Given the description of an element on the screen output the (x, y) to click on. 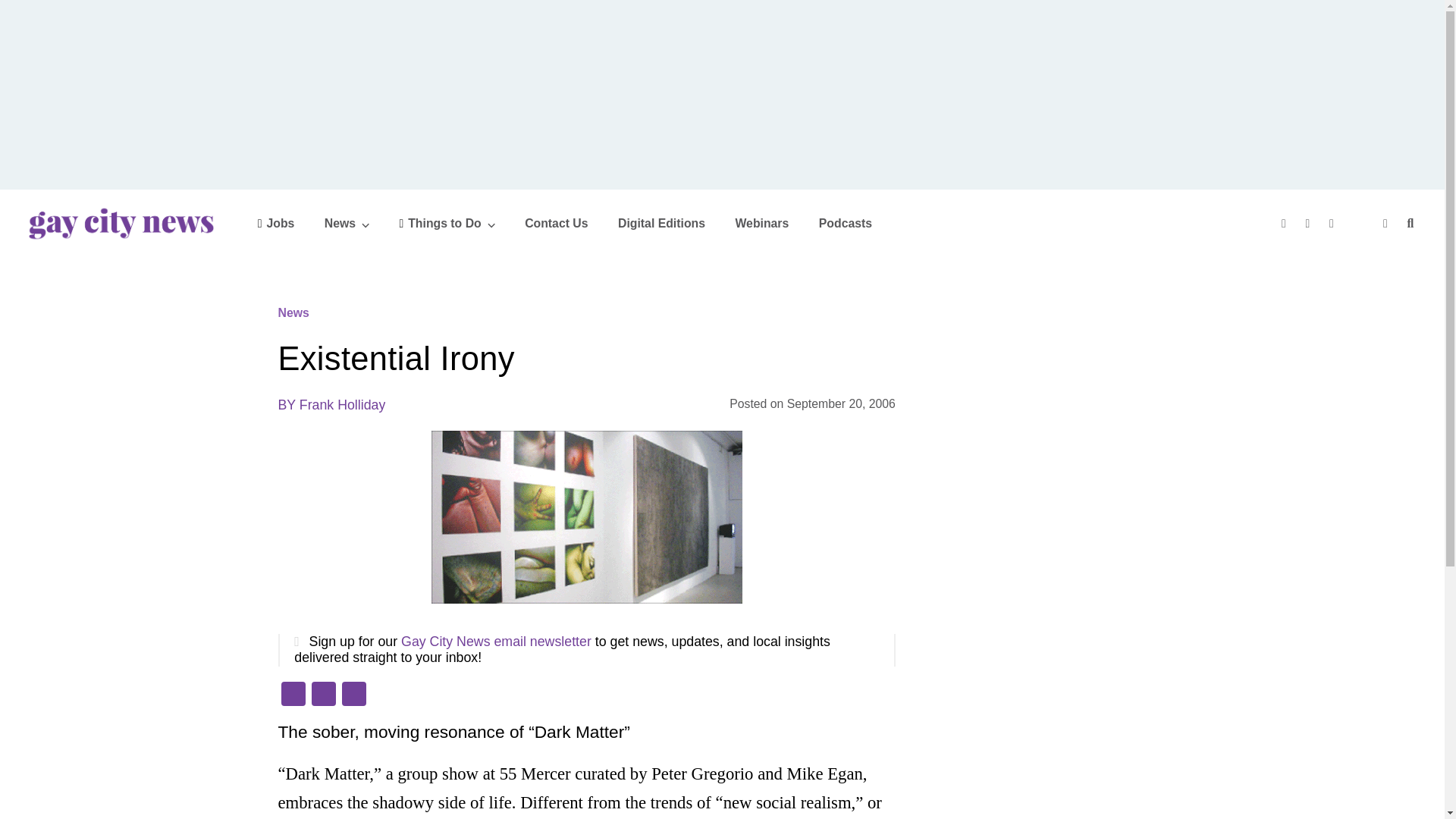
Facebook (292, 695)
Instagram (1333, 223)
Podcasts (845, 223)
Twitter (1310, 223)
Webinars (762, 223)
Jobs (276, 223)
Twitter (322, 695)
News (346, 223)
Facebook (1285, 223)
Contact Us (556, 223)
Digital Editions (660, 223)
Things to Do (446, 223)
